Given the description of an element on the screen output the (x, y) to click on. 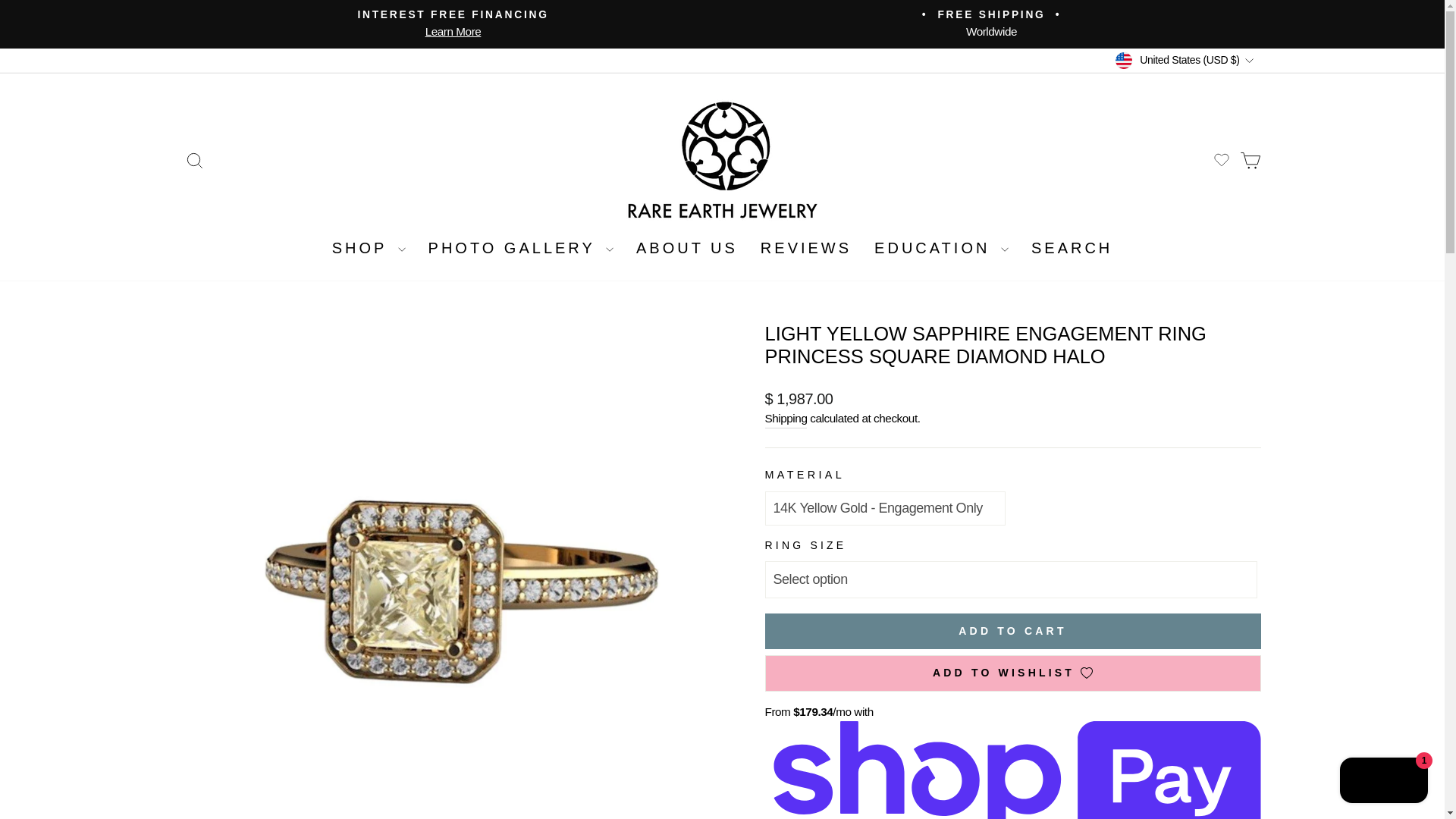
ICON-SEARCH (453, 23)
Shopify online store chat (194, 160)
